Given the description of an element on the screen output the (x, y) to click on. 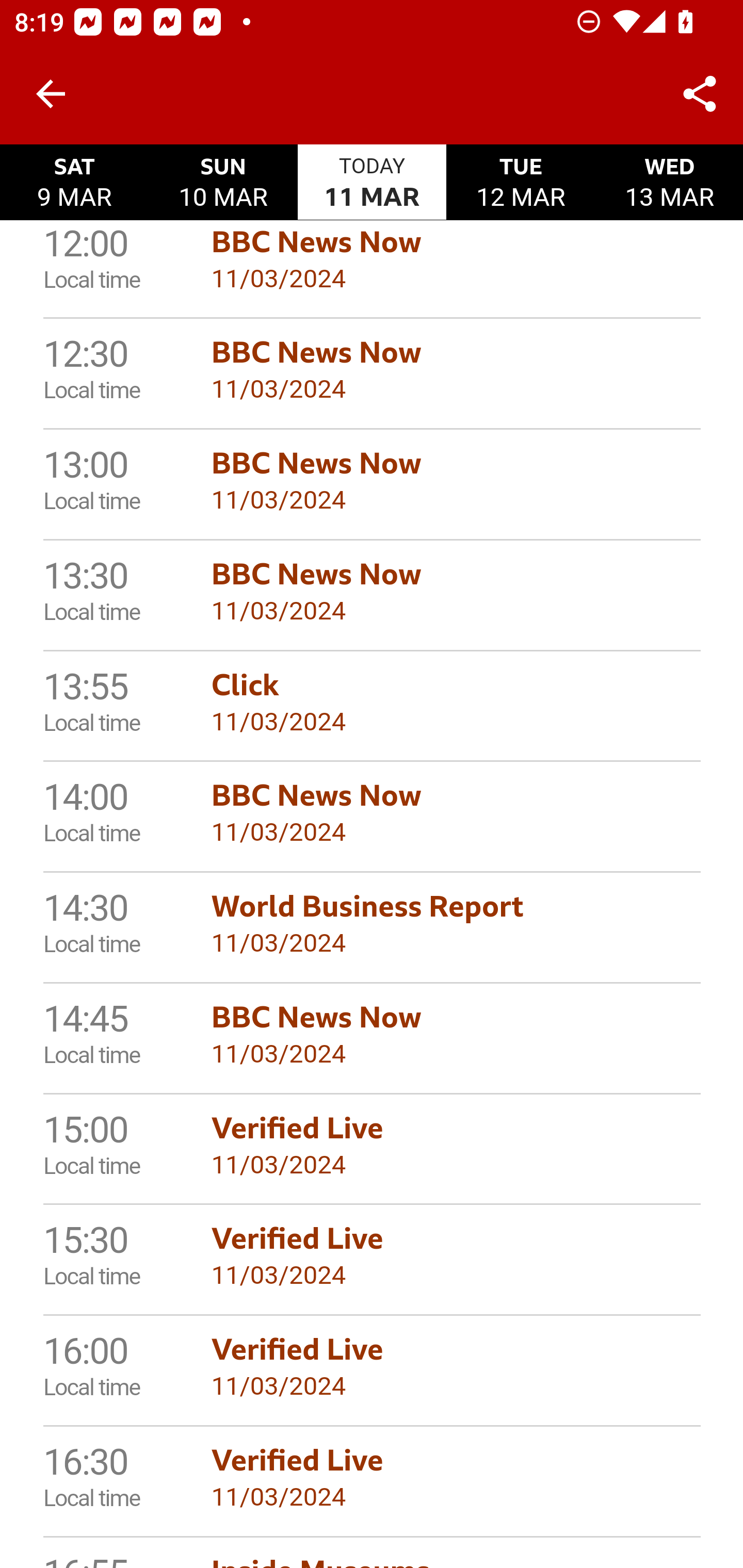
Back (50, 93)
Share (699, 93)
Saturday 9 March  SAT 9 MAR (74, 182)
Sunday 10 March  SUN 10 MAR (222, 182)
Tuesday 12 March  TUE 12 MAR (520, 182)
Wednesday 13 March  WED 13 MAR (668, 182)
